Given the description of an element on the screen output the (x, y) to click on. 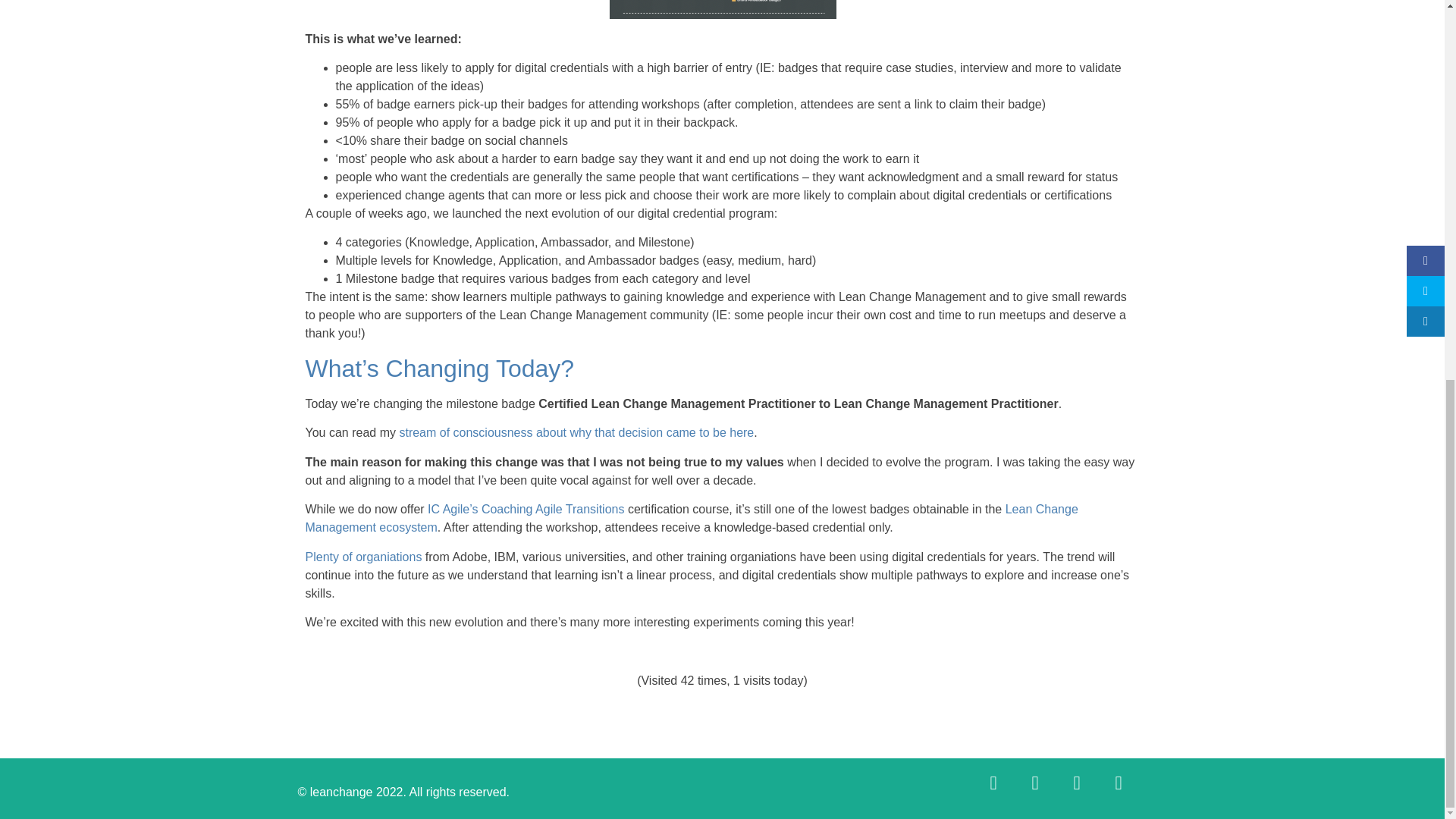
Lean Change Management ecosystem (690, 517)
Plenty of organiations (363, 556)
